Given the description of an element on the screen output the (x, y) to click on. 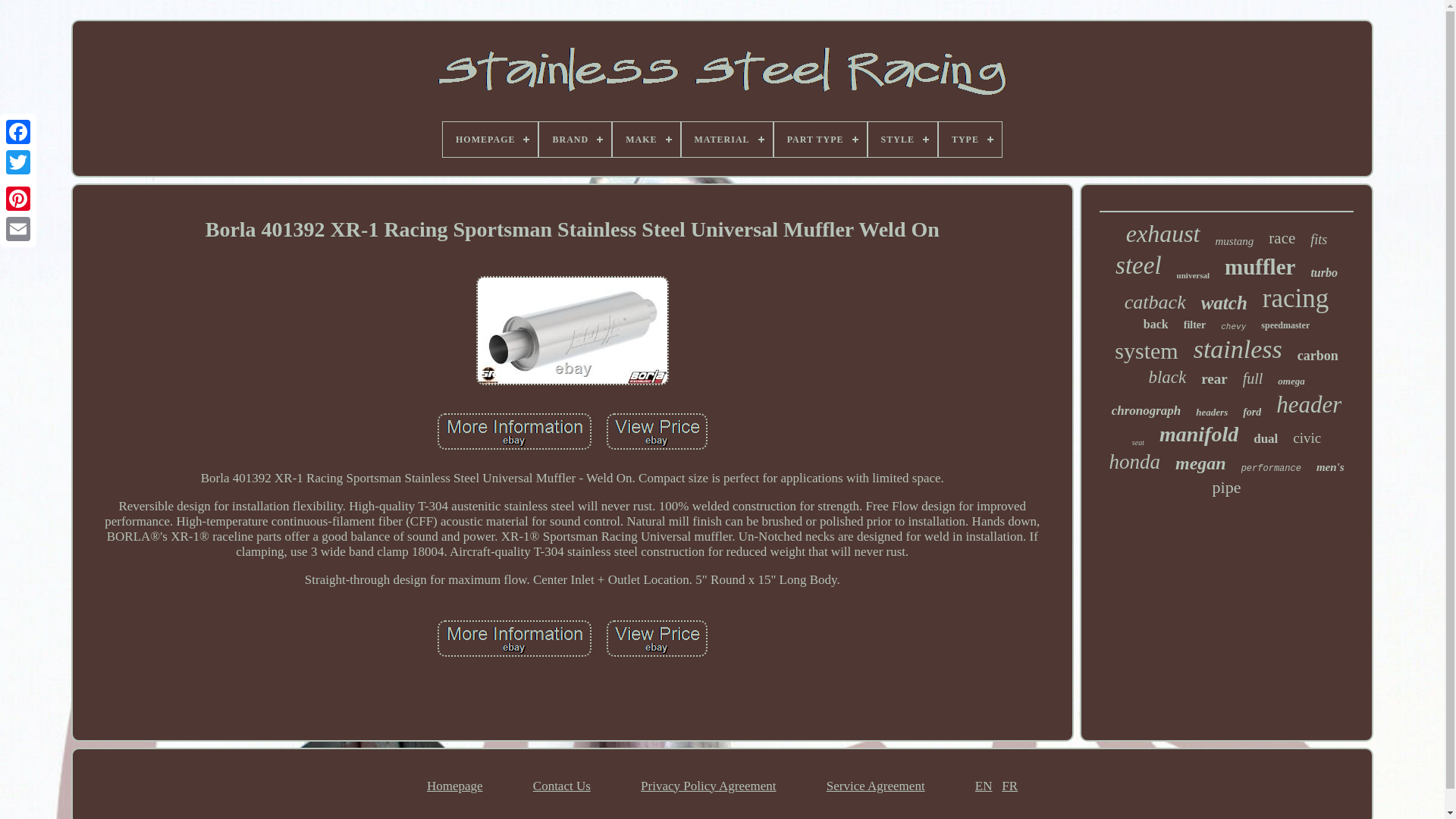
Pinterest (17, 198)
MAKE (645, 139)
HOMEPAGE (489, 139)
BRAND (574, 139)
